Given the description of an element on the screen output the (x, y) to click on. 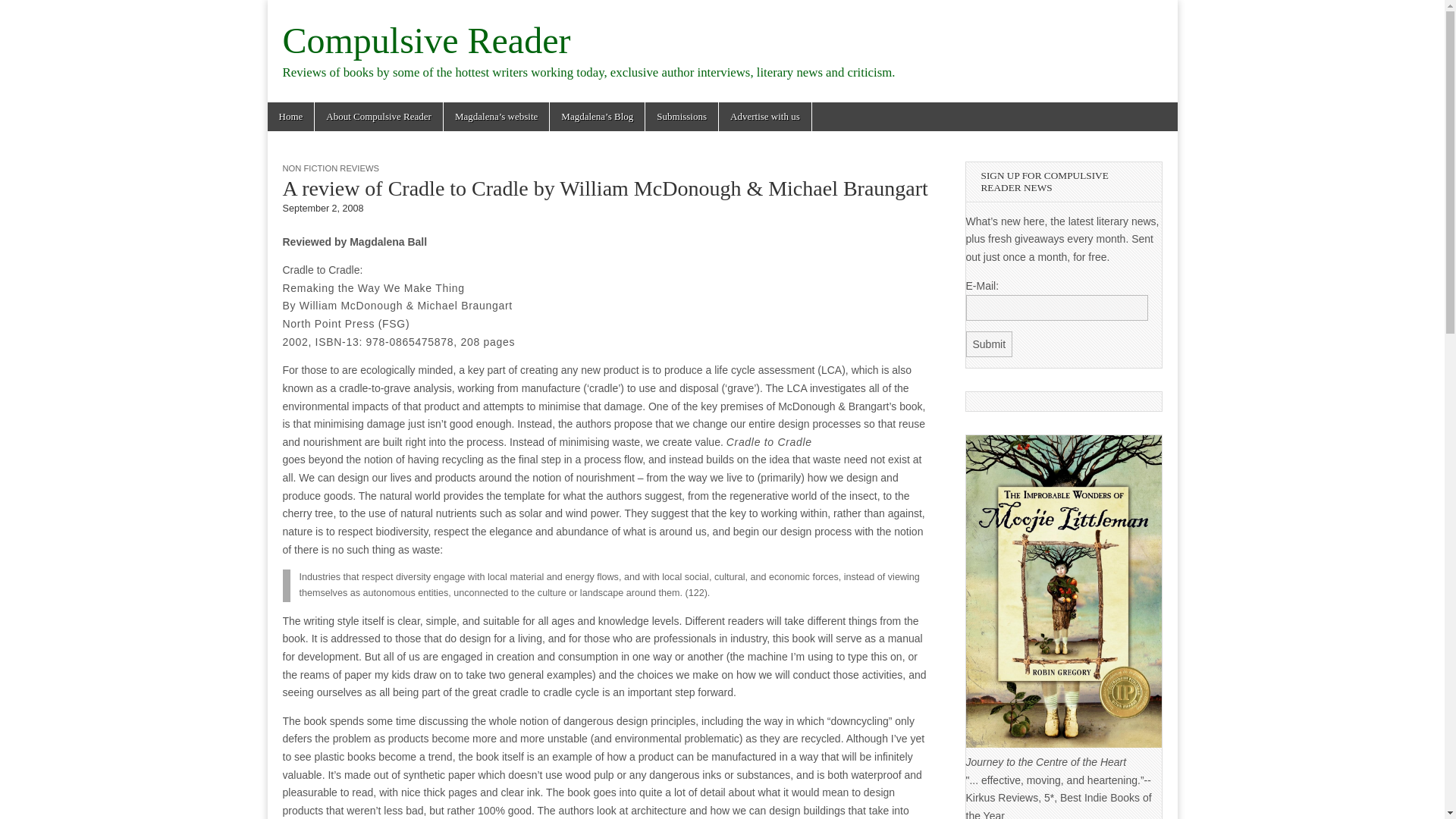
Advertise with us (764, 116)
About Compulsive Reader (378, 116)
Search (23, 12)
Submit (989, 344)
NON FICTION REVIEWS (330, 167)
Submissions (681, 116)
Submit (989, 344)
Compulsive Reader (426, 40)
Compulsive Reader (426, 40)
Home (290, 116)
